Given the description of an element on the screen output the (x, y) to click on. 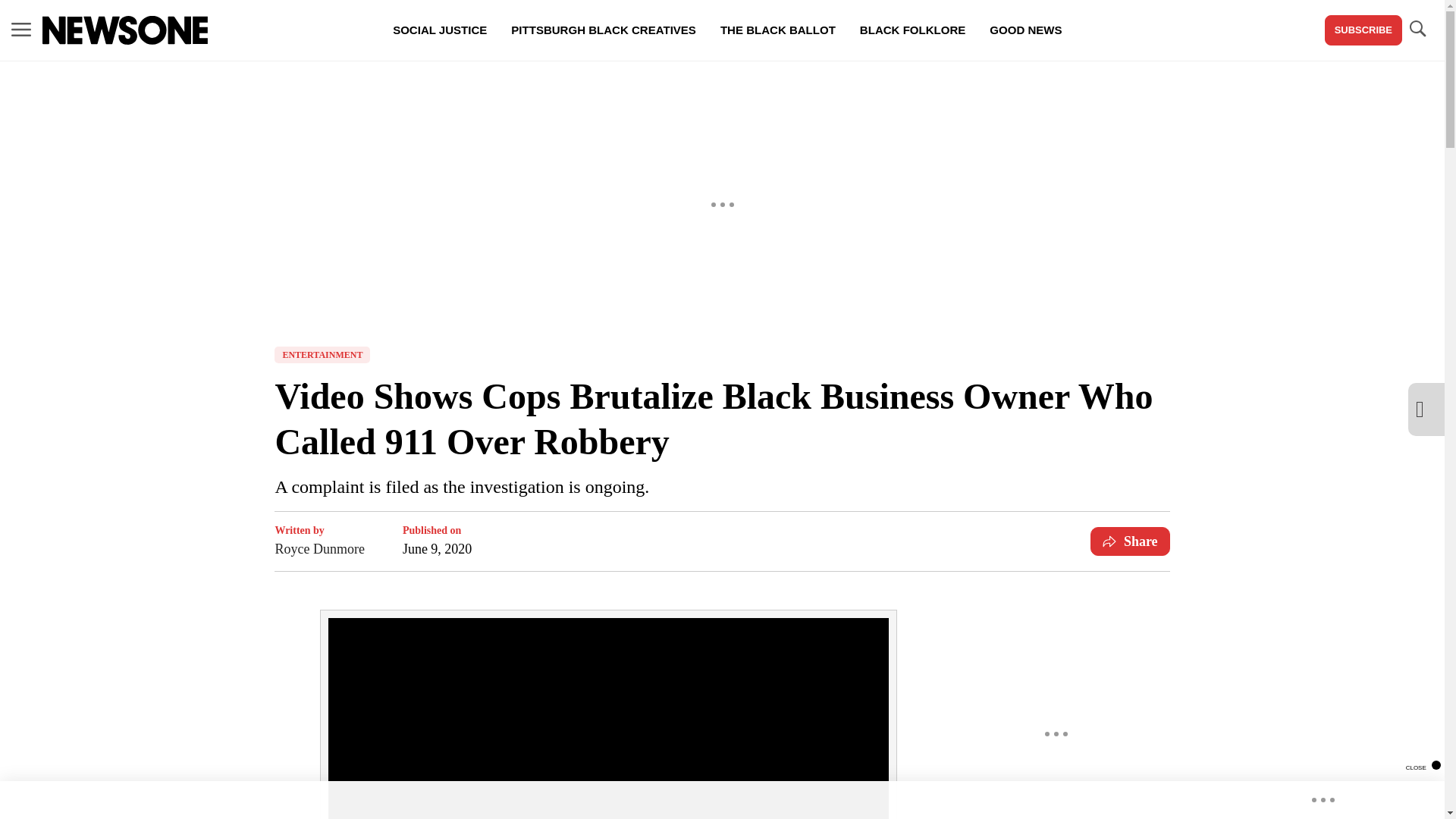
SOCIAL JUSTICE (439, 30)
THE BLACK BALLOT (777, 30)
BLACK FOLKLORE (911, 30)
GOOD NEWS (1025, 30)
TOGGLE SEARCH (1417, 30)
SUBSCRIBE (1363, 30)
Share (1130, 541)
TOGGLE SEARCH (1417, 28)
MENU (20, 29)
Royce Dunmore (319, 548)
PITTSBURGH BLACK CREATIVES (603, 30)
MENU (20, 30)
ENTERTAINMENT (322, 354)
